Given the description of an element on the screen output the (x, y) to click on. 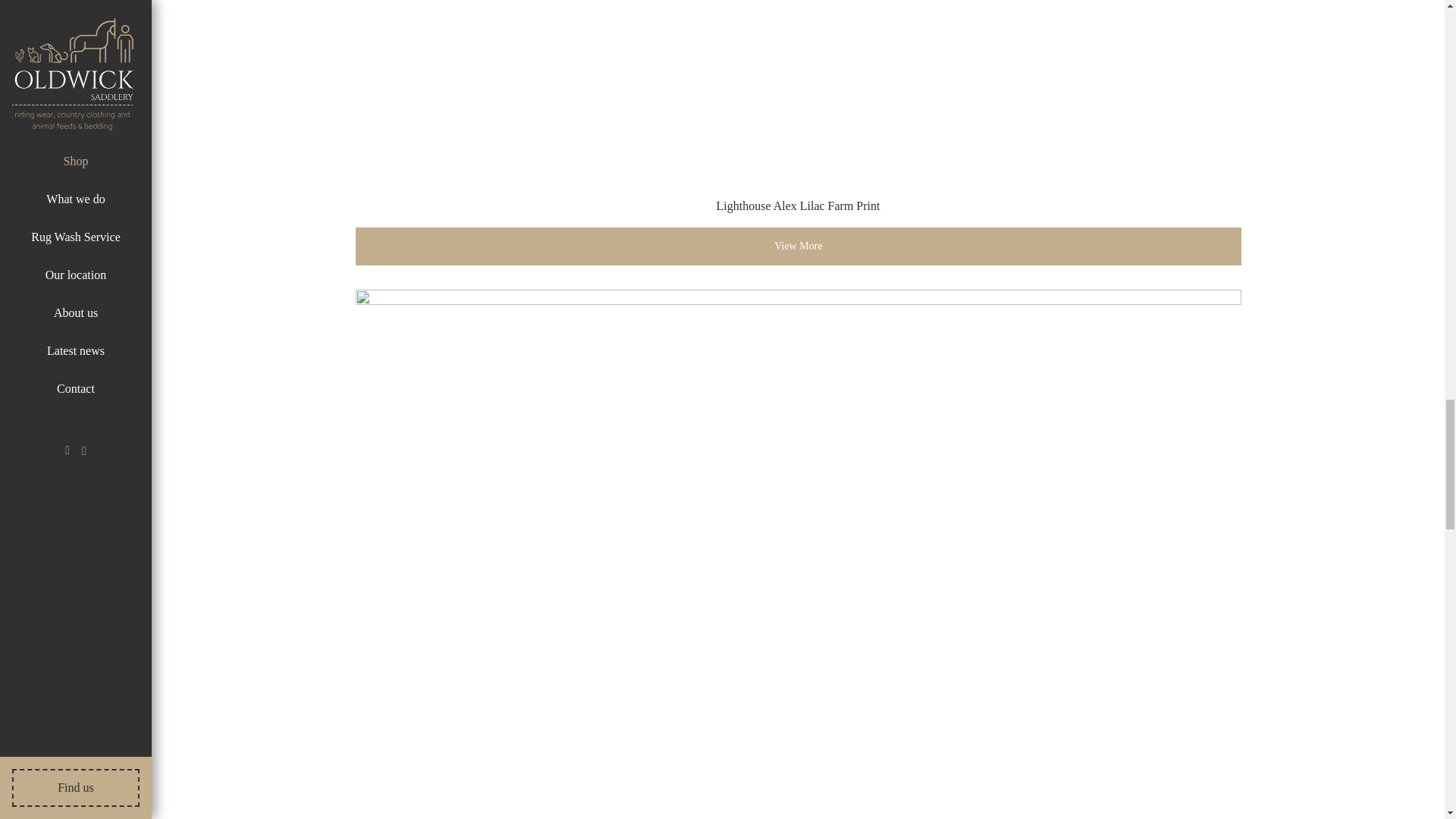
View More (797, 246)
